Given the description of an element on the screen output the (x, y) to click on. 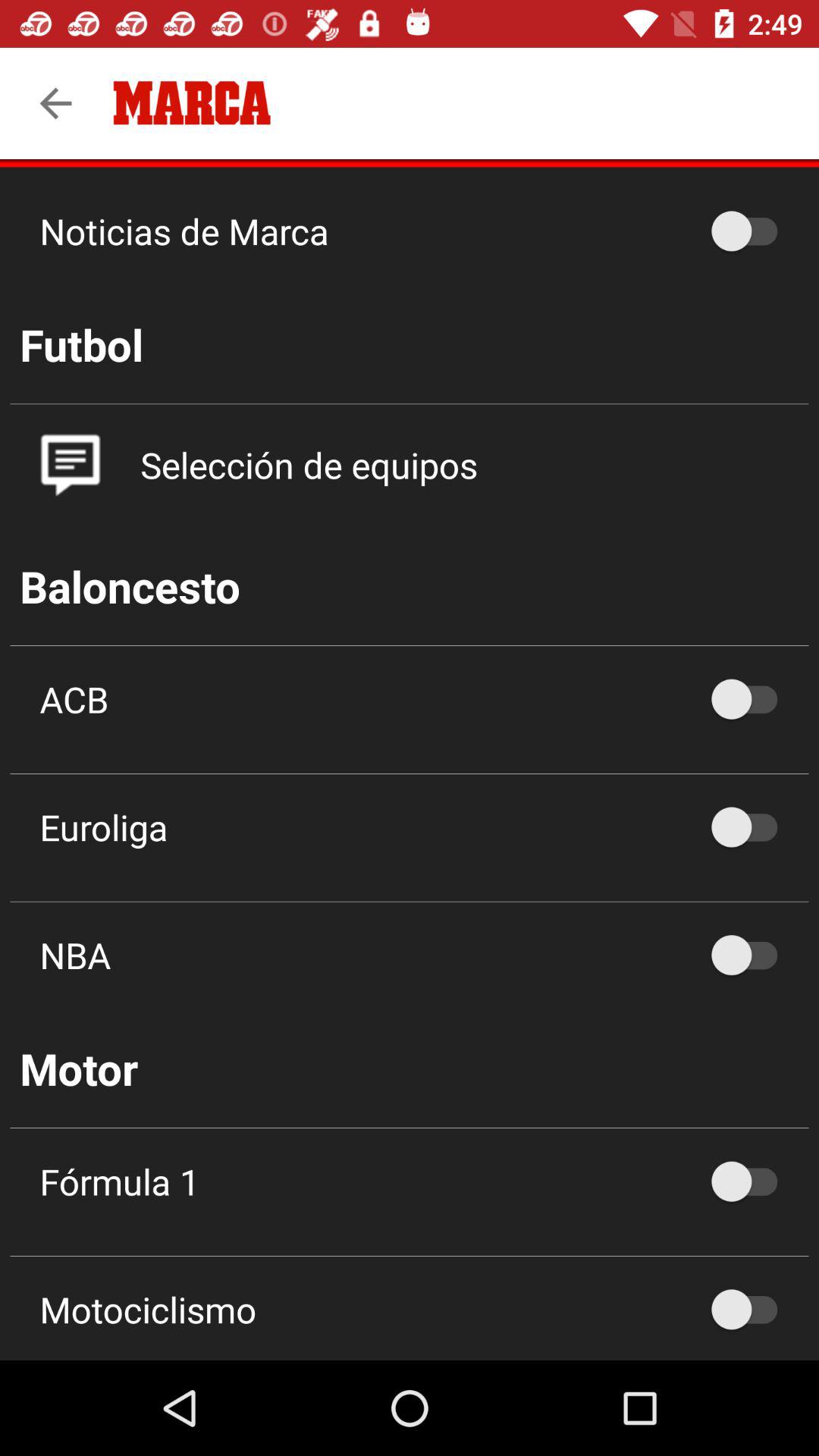
toggle option (751, 827)
